Given the description of an element on the screen output the (x, y) to click on. 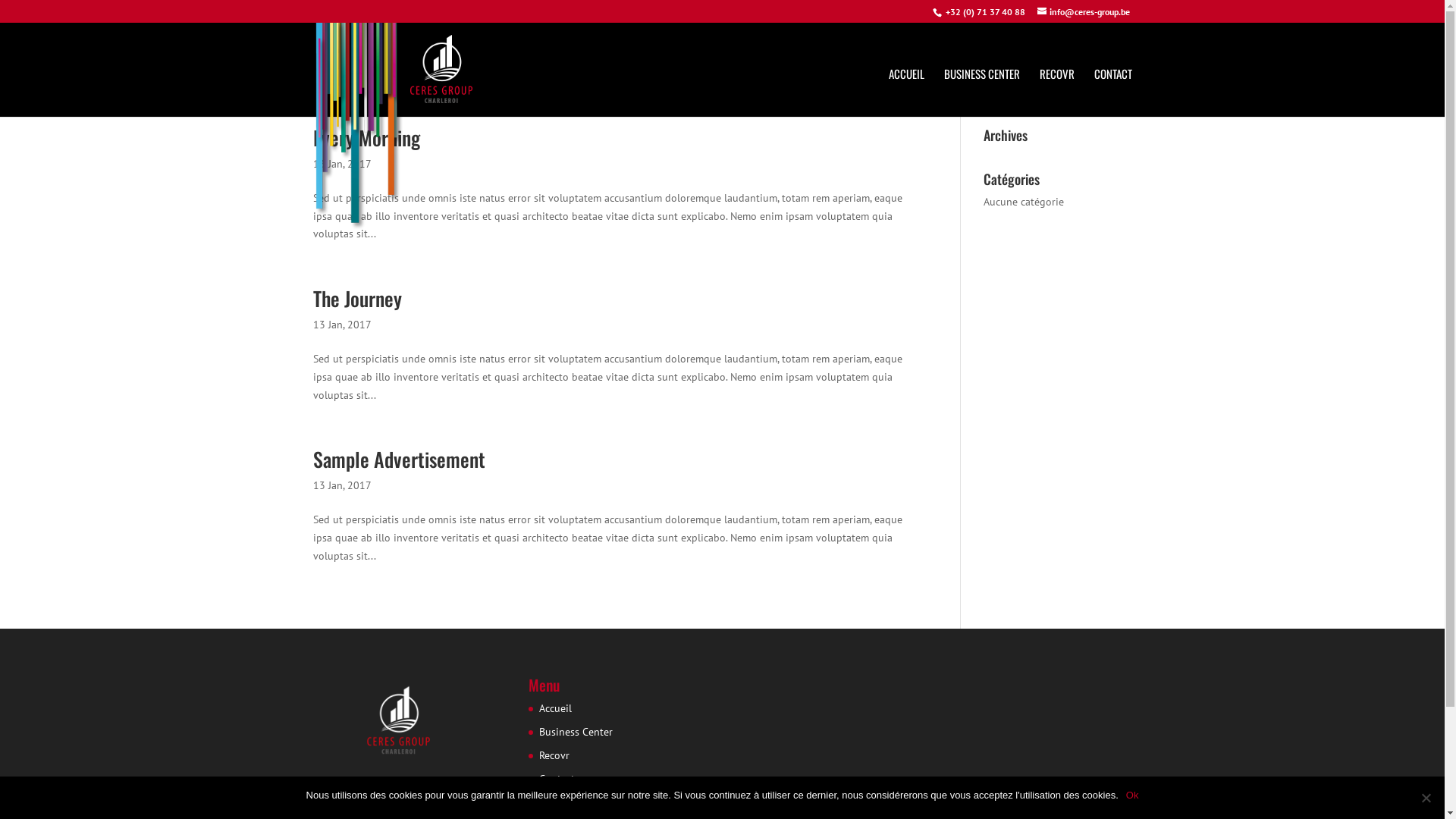
Accueil Element type: text (555, 708)
+32 (0) 71 37 40 88 Element type: text (983, 11)
CONTACT Element type: text (1112, 92)
ACCUEIL Element type: text (906, 92)
RECOVR Element type: text (1055, 92)
Recovr Element type: text (554, 755)
BUSINESS CENTER Element type: text (980, 73)
The Journey Element type: text (356, 298)
Contact Element type: text (556, 778)
Sample Advertisement Element type: text (398, 458)
Non Element type: hover (1425, 797)
Business Center Element type: text (575, 731)
info@ceres-group.be Element type: text (1083, 11)
Ok Element type: text (1132, 795)
Every Morning Element type: text (365, 137)
